Given the description of an element on the screen output the (x, y) to click on. 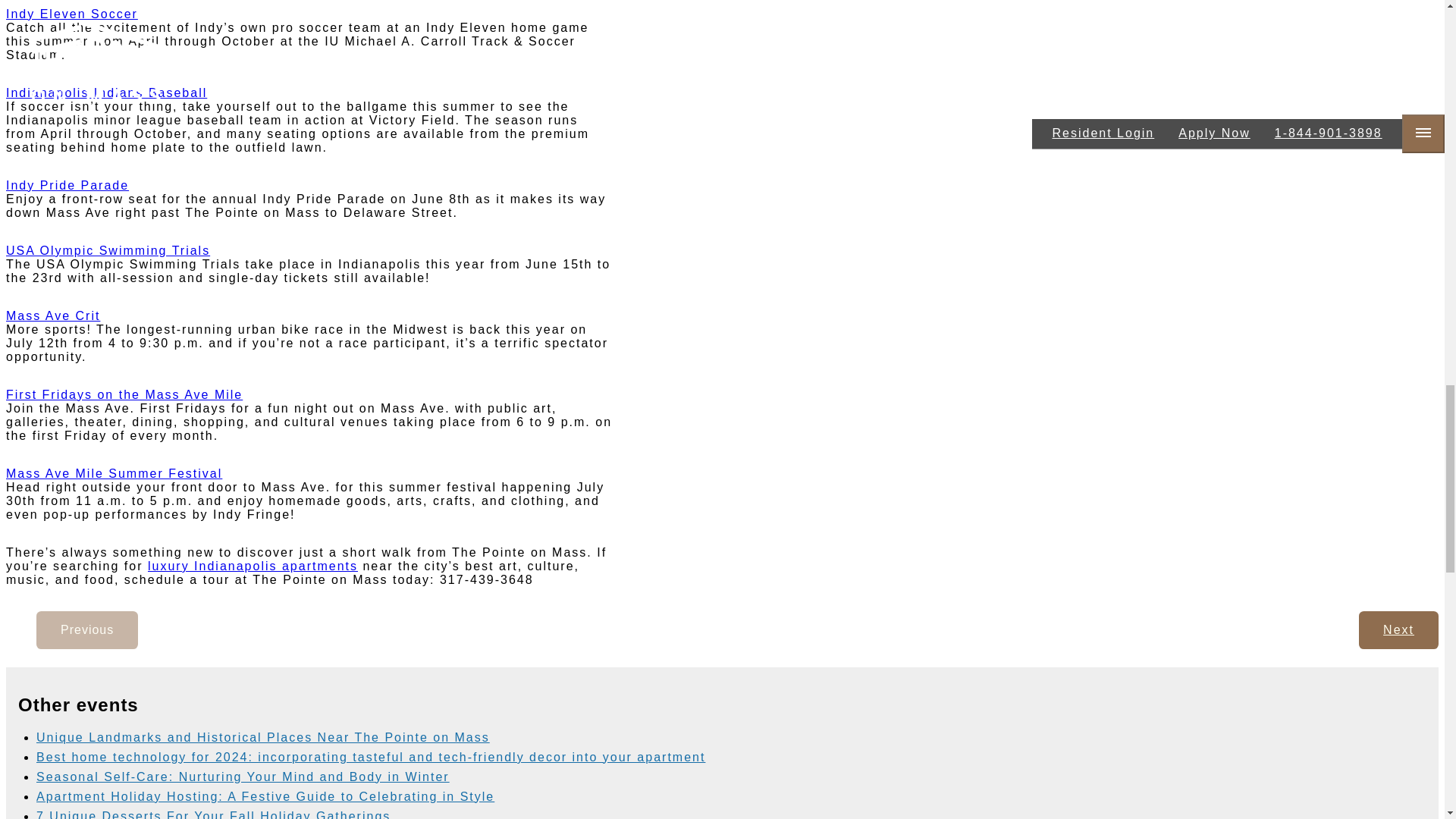
USA Olympic Swimming Trials (107, 250)
luxury Indianapolis apartments (253, 565)
Indy Pride Parade (67, 185)
Mass Ave Mile Summer Festival (113, 472)
Indy Eleven Soccer (71, 13)
First Fridays on the Mass Ave Mile (124, 394)
Mass Ave Crit (52, 315)
Indianapolis Indians Baseball (105, 92)
